Given the description of an element on the screen output the (x, y) to click on. 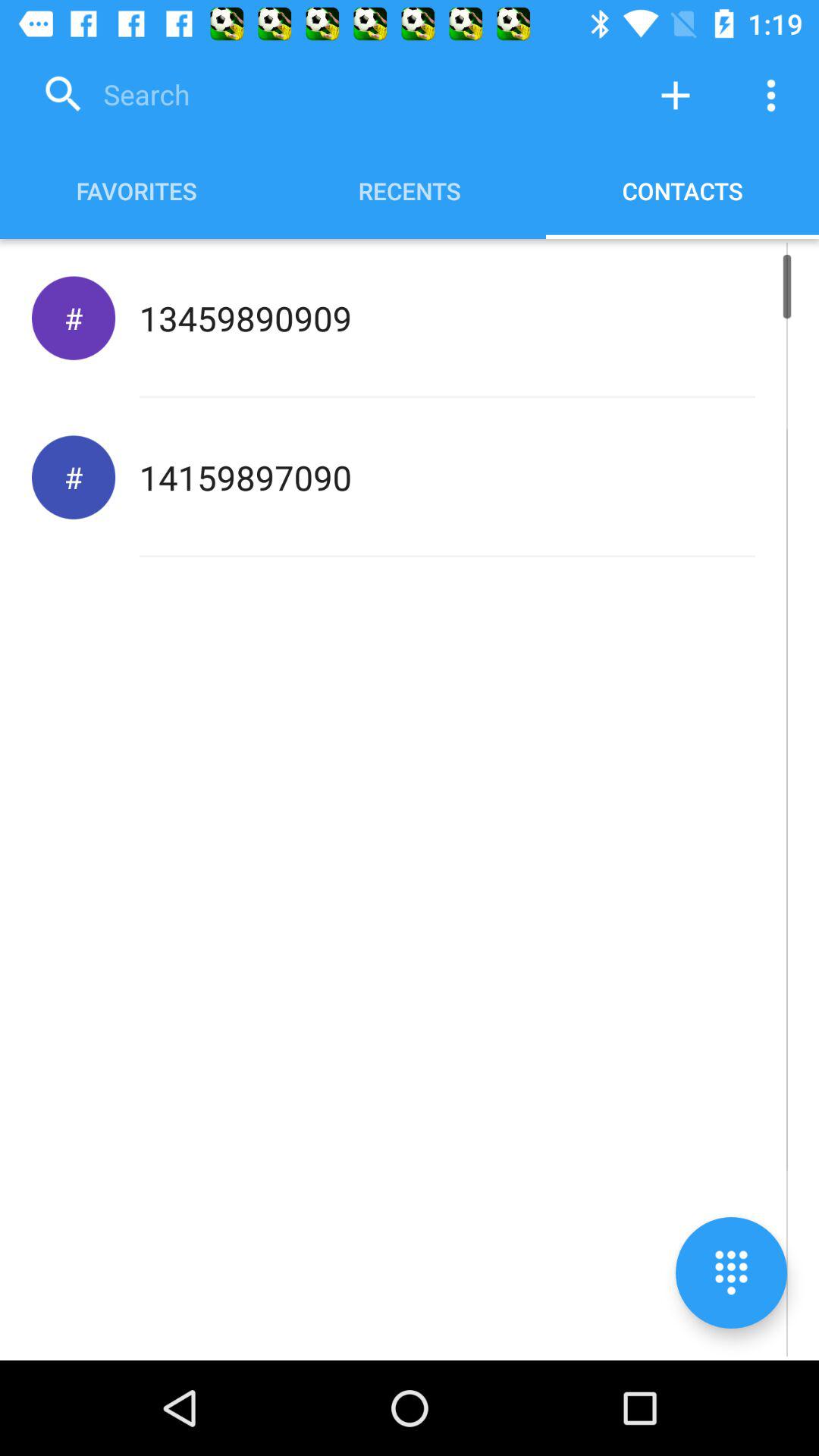
add phone number (675, 95)
